Given the description of an element on the screen output the (x, y) to click on. 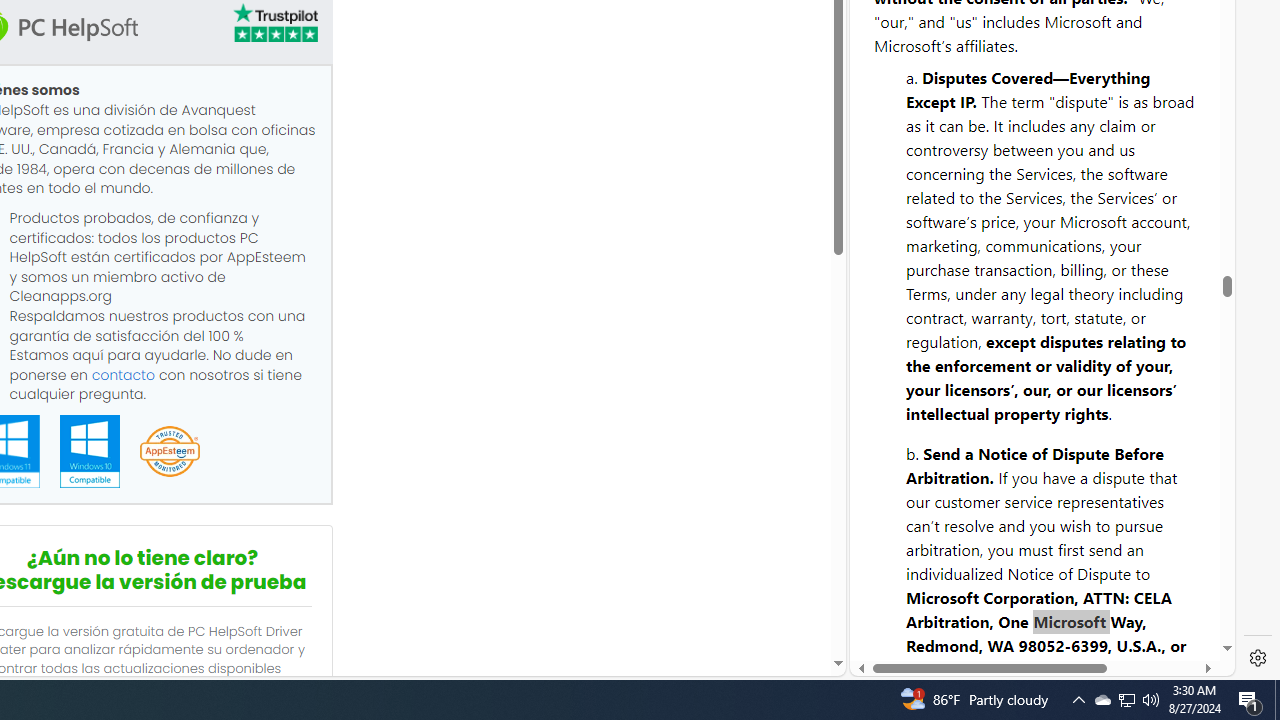
Open in New Tab (1042, 631)
